Given the description of an element on the screen output the (x, y) to click on. 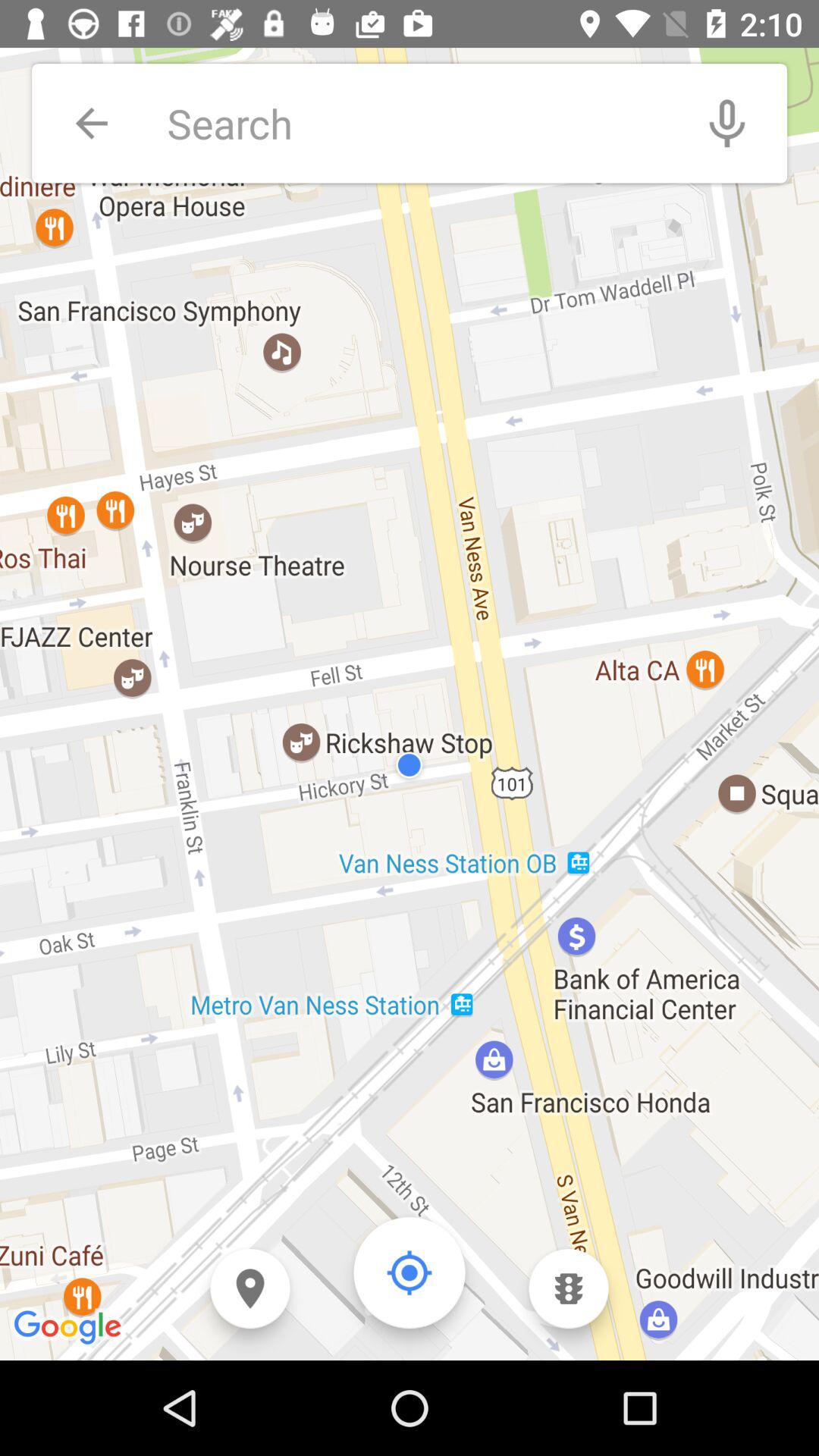
traffic view icon (568, 1288)
